Given the description of an element on the screen output the (x, y) to click on. 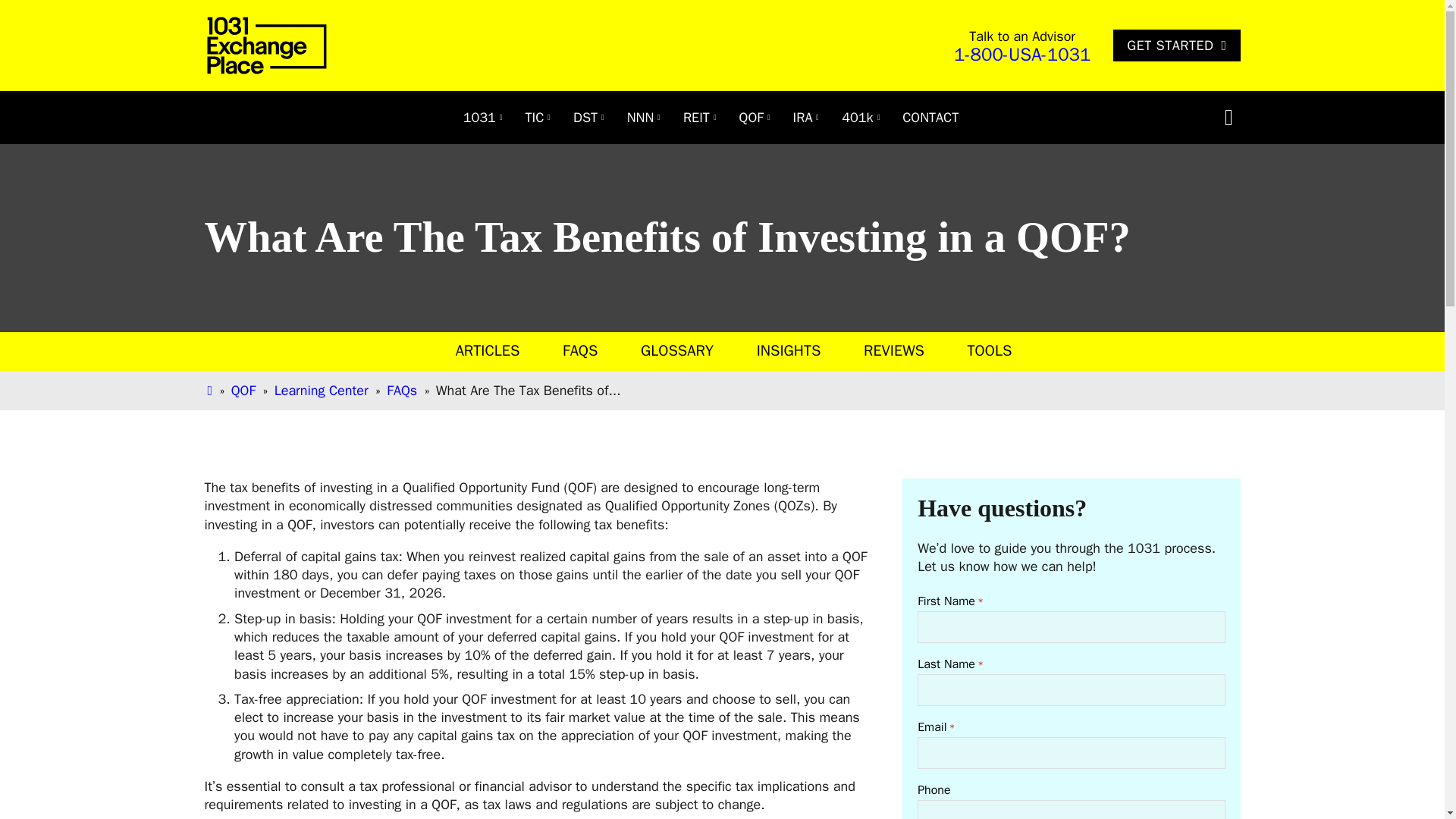
1-800-USA-1031 (1021, 54)
Delaware Statutory Trust (584, 117)
Triple Net Lease (640, 117)
TIC (534, 117)
DST (584, 117)
1031 (479, 117)
1031 Exchange Intermediary (479, 117)
GET STARTED (1176, 45)
NNN (640, 117)
Tenants In Common (534, 117)
